Given the description of an element on the screen output the (x, y) to click on. 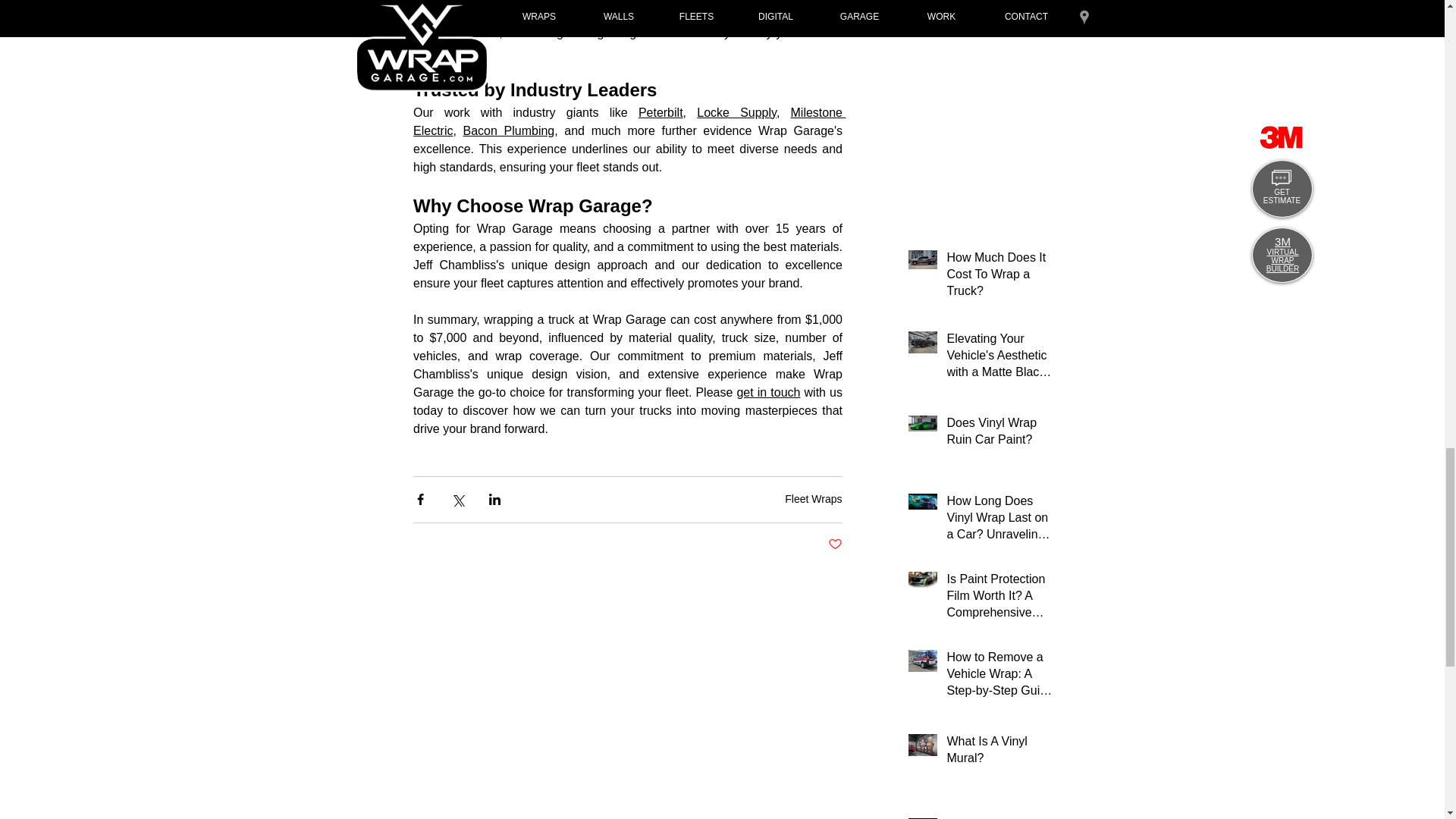
Bacon Plumbing (508, 131)
Locke Supply (736, 112)
get in touch (767, 392)
Peterbilt (659, 112)
Milestone Electric (628, 122)
design team (594, 15)
